Given the description of an element on the screen output the (x, y) to click on. 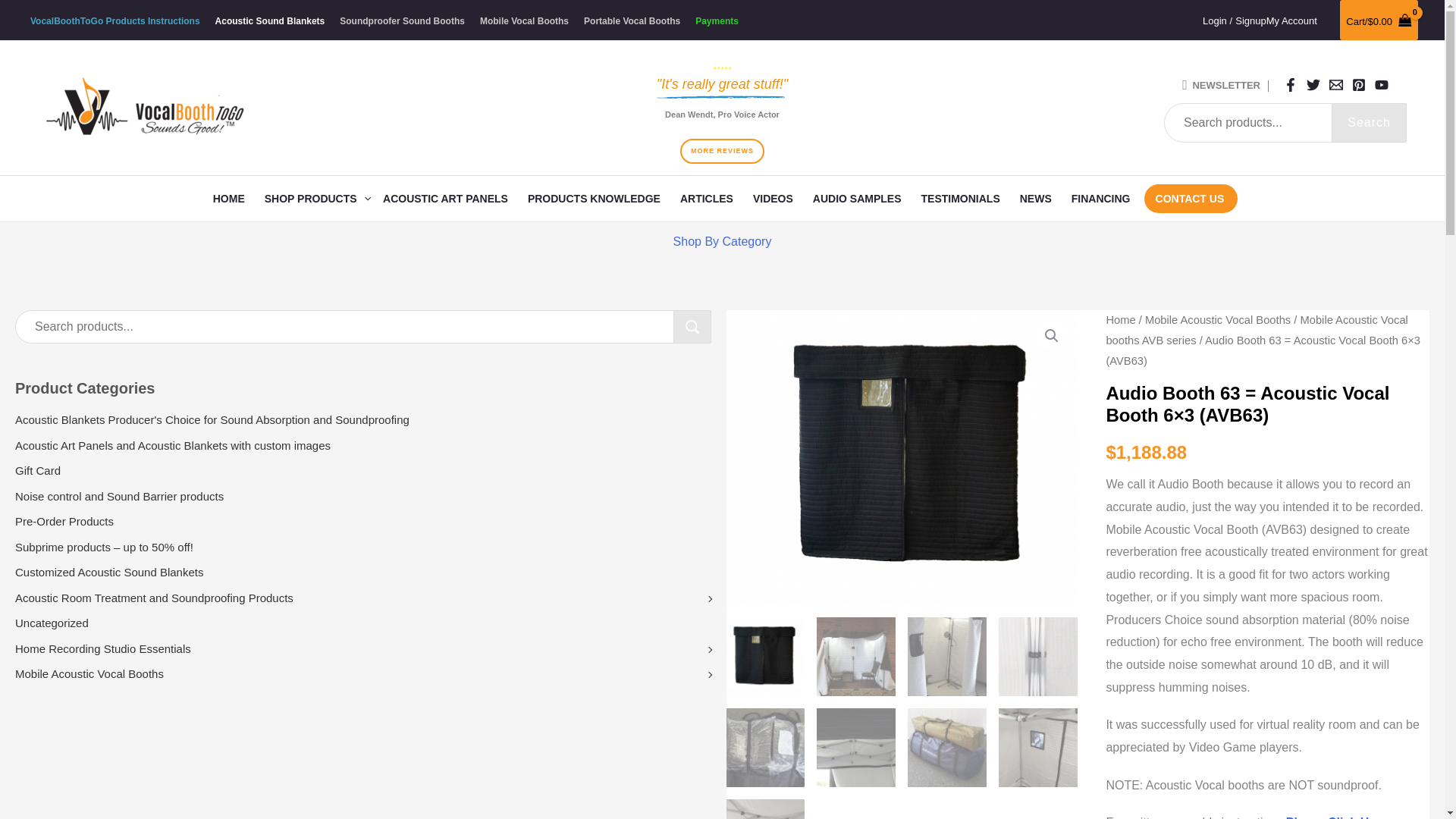
Search (1369, 122)
AVB63.png (913, 457)
My Account (1291, 20)
Portable Vocal Booths (635, 21)
VocalBoothToGo Products Instructions (118, 21)
Signup (1249, 20)
Acoustic Sound Blankets (273, 21)
MORE REVIEWS (721, 150)
Mobile Vocal Booths (527, 21)
Payments (720, 21)
SHOP PRODUCTS (318, 198)
HOME (232, 198)
Soundproofer Sound Booths (406, 21)
